Given the description of an element on the screen output the (x, y) to click on. 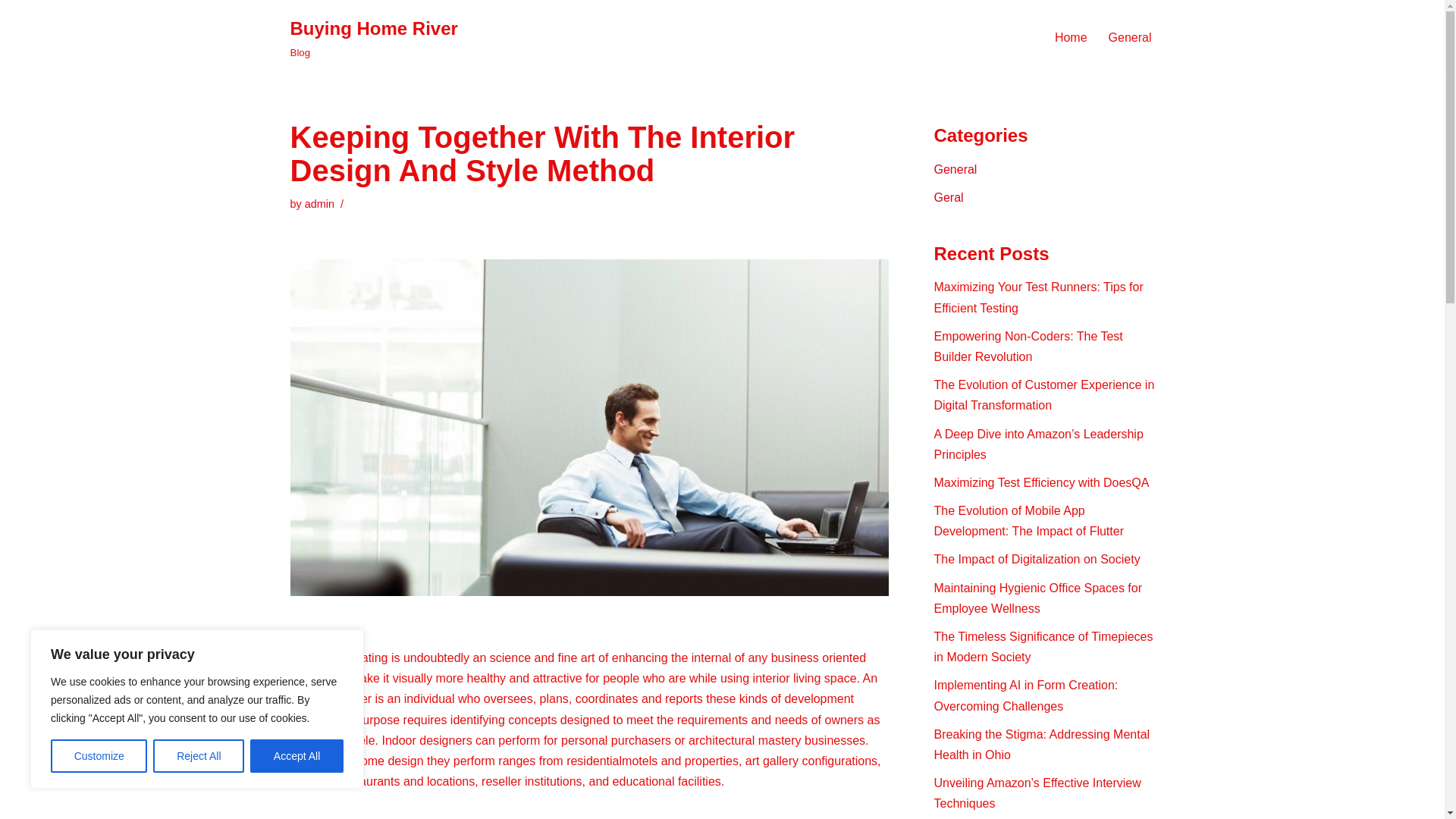
Home (1070, 37)
Empowering Non-Coders: The Test Builder Revolution (1028, 346)
Maximizing Test Efficiency with DoesQA (1042, 481)
Geral (948, 196)
Skip to content (11, 31)
Posts by admin (319, 203)
General (955, 169)
General (1129, 37)
Customize (98, 756)
Reject All (198, 756)
